Given the description of an element on the screen output the (x, y) to click on. 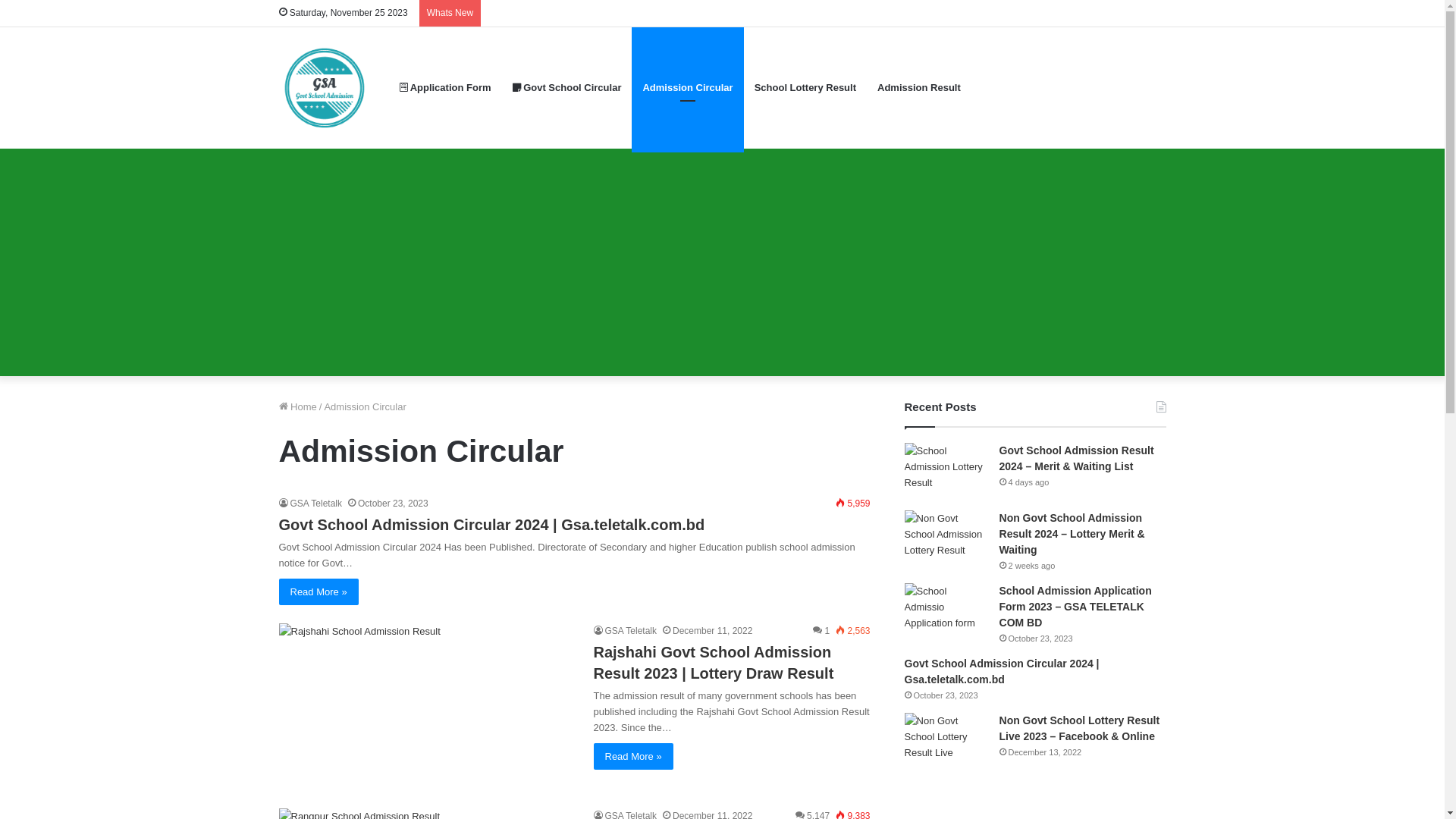
Admission Result Element type: text (918, 87)
GSA Teletalk Element type: text (624, 630)
Application Form Element type: text (444, 87)
Advertisement Element type: hover (721, 262)
GSA Teletalk Element type: text (310, 503)
Govt School Admission (GSA) 2021 Element type: hover (324, 87)
School Lottery Result Element type: text (804, 87)
Home Element type: text (297, 406)
Govt School Circular Element type: text (567, 87)
Govt School Admission Circular 2024 | Gsa.teletalk.com.bd Element type: text (492, 524)
Admission Circular Element type: text (687, 87)
Govt School Admission Circular 2024 | Gsa.teletalk.com.bd Element type: text (1001, 671)
